Given the description of an element on the screen output the (x, y) to click on. 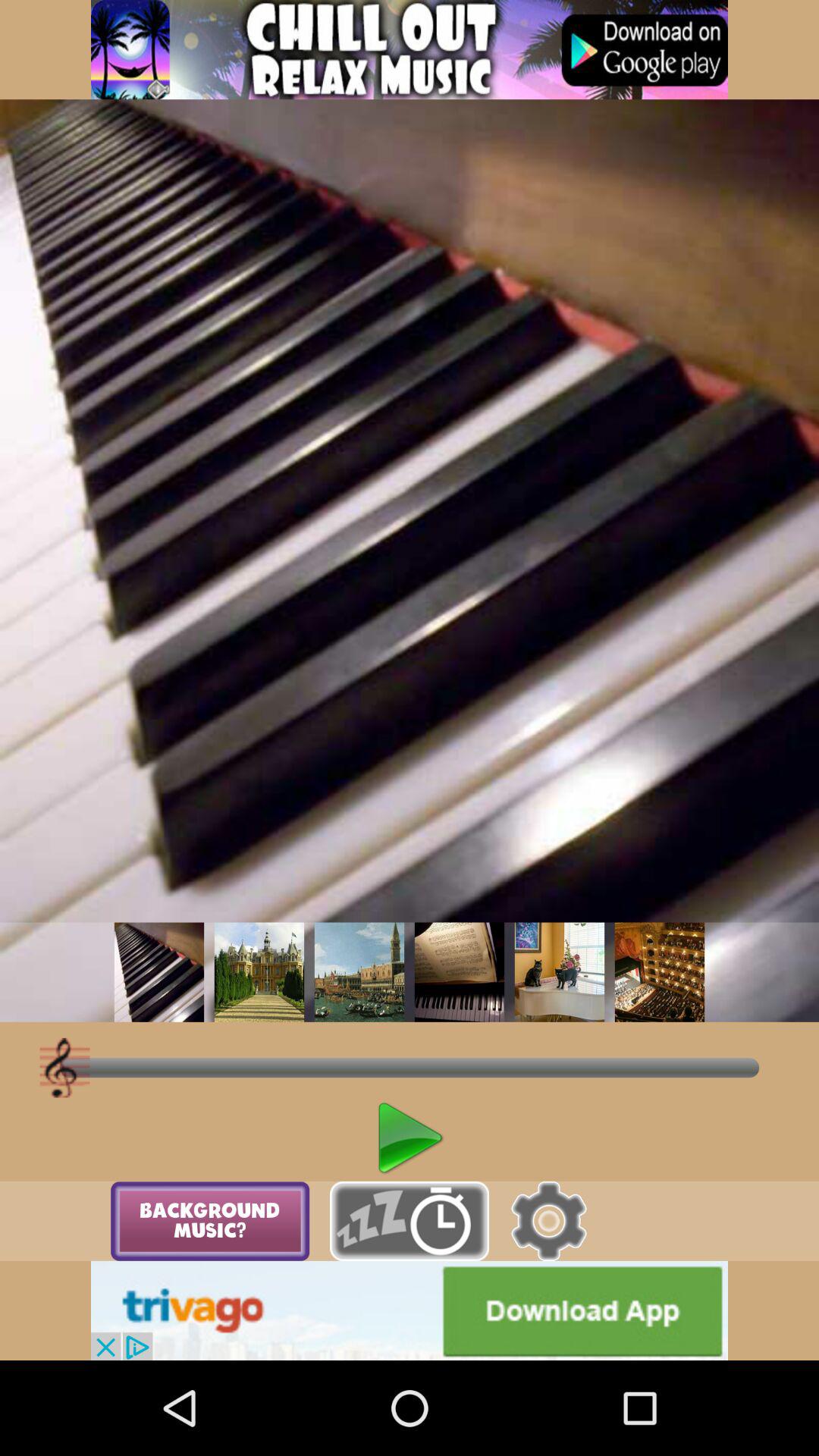
advertisement link (409, 1310)
